Given the description of an element on the screen output the (x, y) to click on. 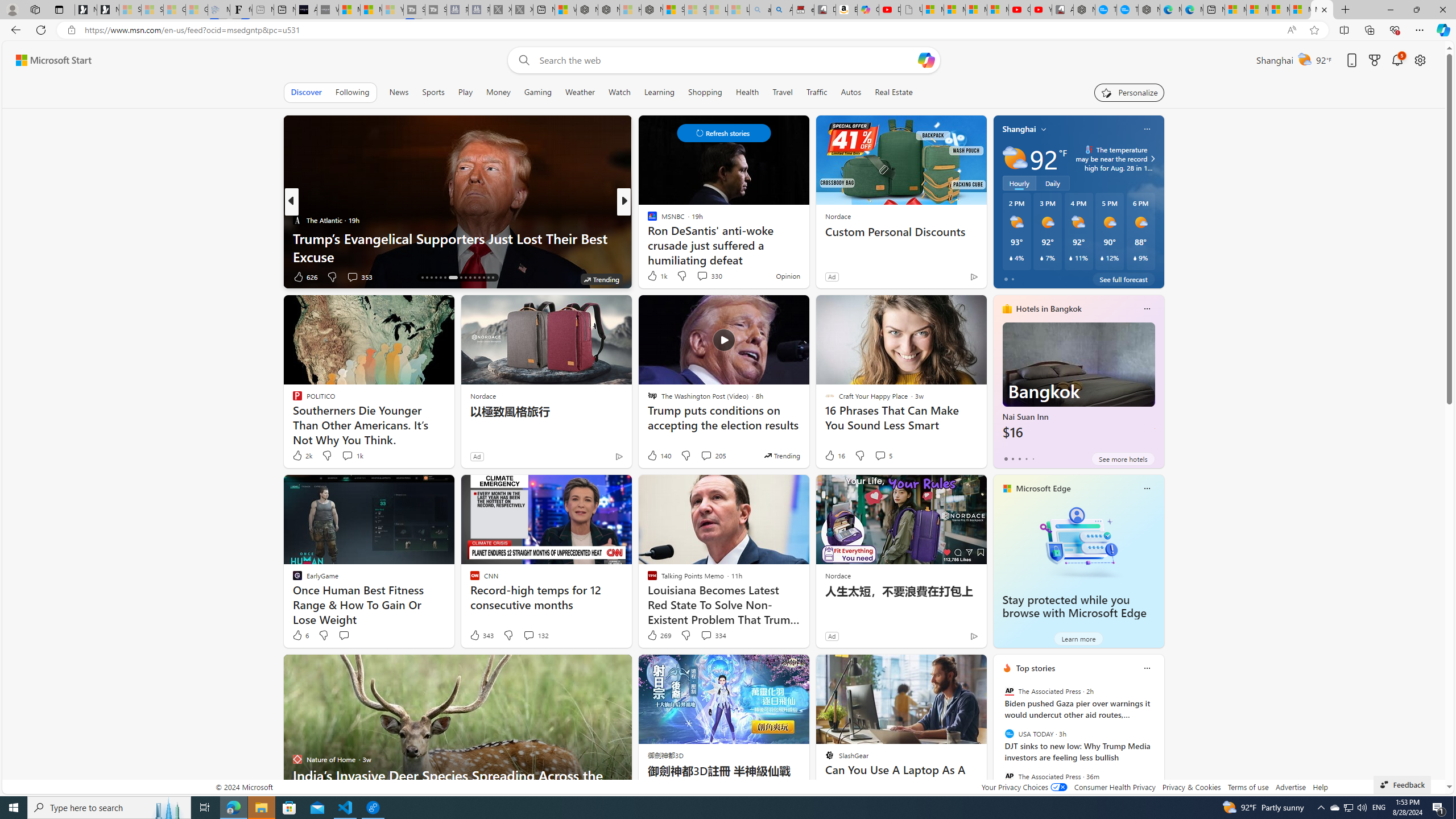
tab-0 (1005, 458)
View comments 5 Comment (882, 455)
AutomationID: tab-16 (422, 277)
View comments 2 Comment (702, 276)
View comments 39 Comment (6, 276)
Hide this story (952, 668)
Wildlife - MSN (565, 9)
Notifications (1397, 60)
Health (746, 92)
6 Like (299, 634)
tab-4 (1032, 458)
